Given the description of an element on the screen output the (x, y) to click on. 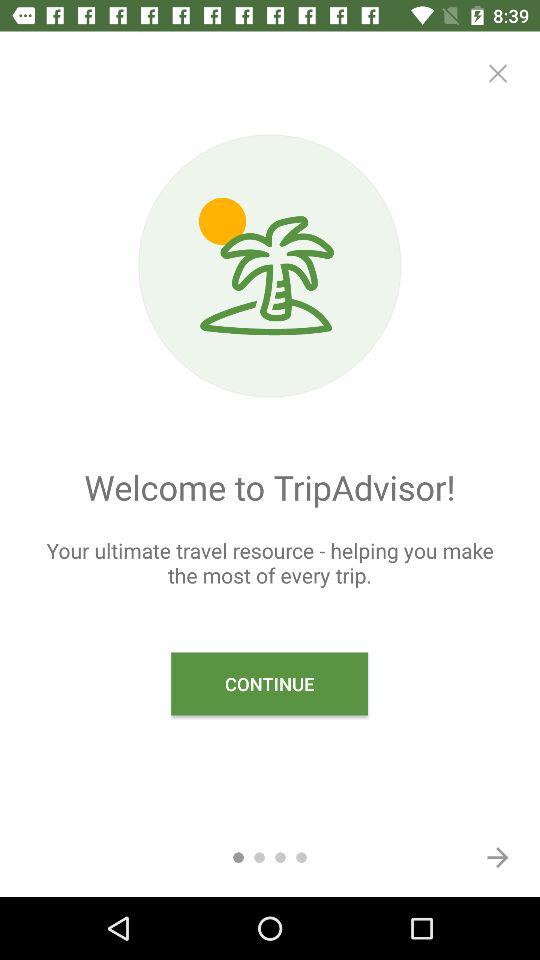
select the icon above the your ultimate travel icon (497, 73)
